Given the description of an element on the screen output the (x, y) to click on. 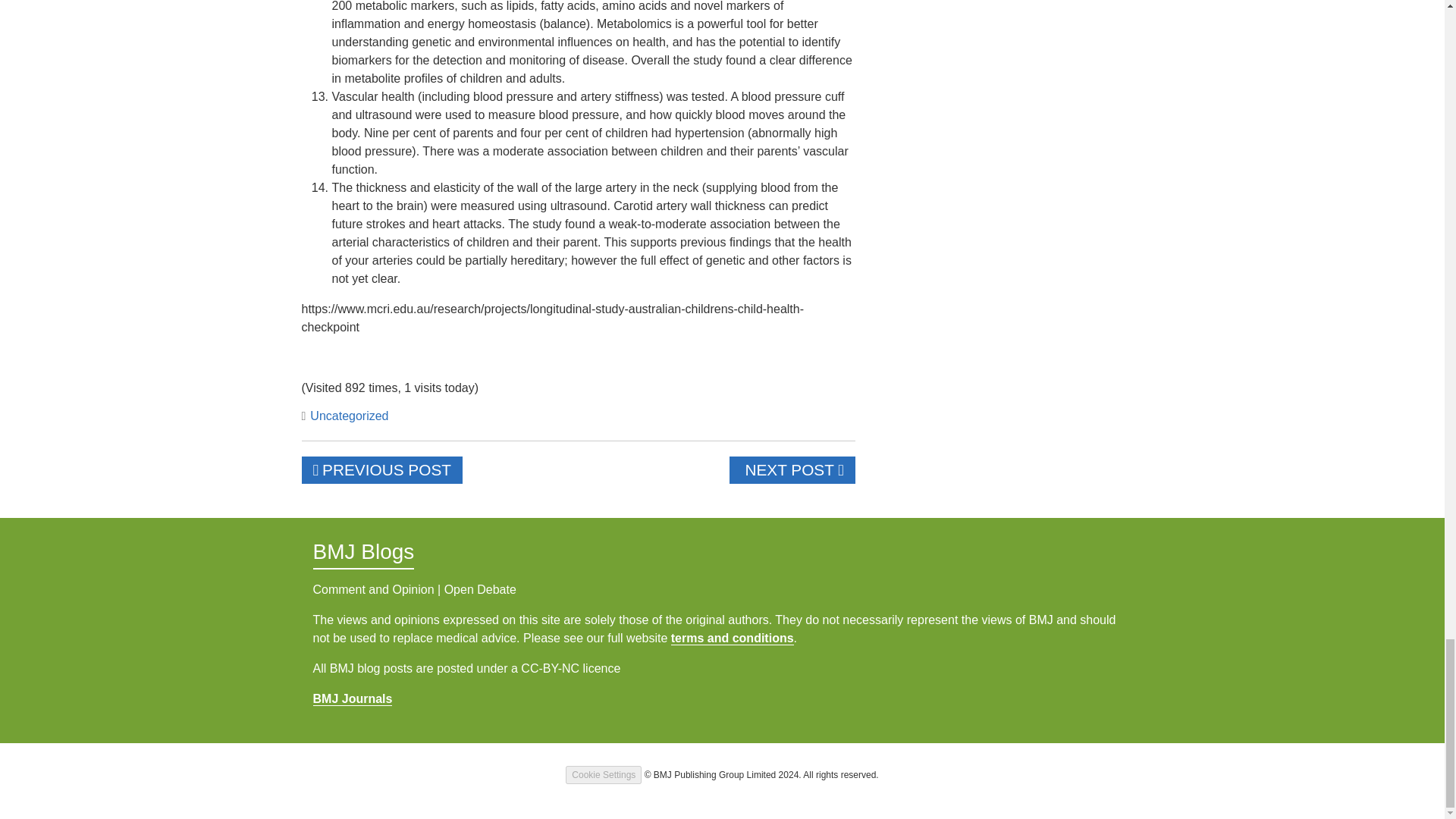
Cookie Settings (604, 774)
Uncategorized (347, 415)
terms and conditions (732, 638)
PREVIOUS POST (382, 470)
 NEXT POST (792, 470)
BMJ Journals (352, 698)
